Given the description of an element on the screen output the (x, y) to click on. 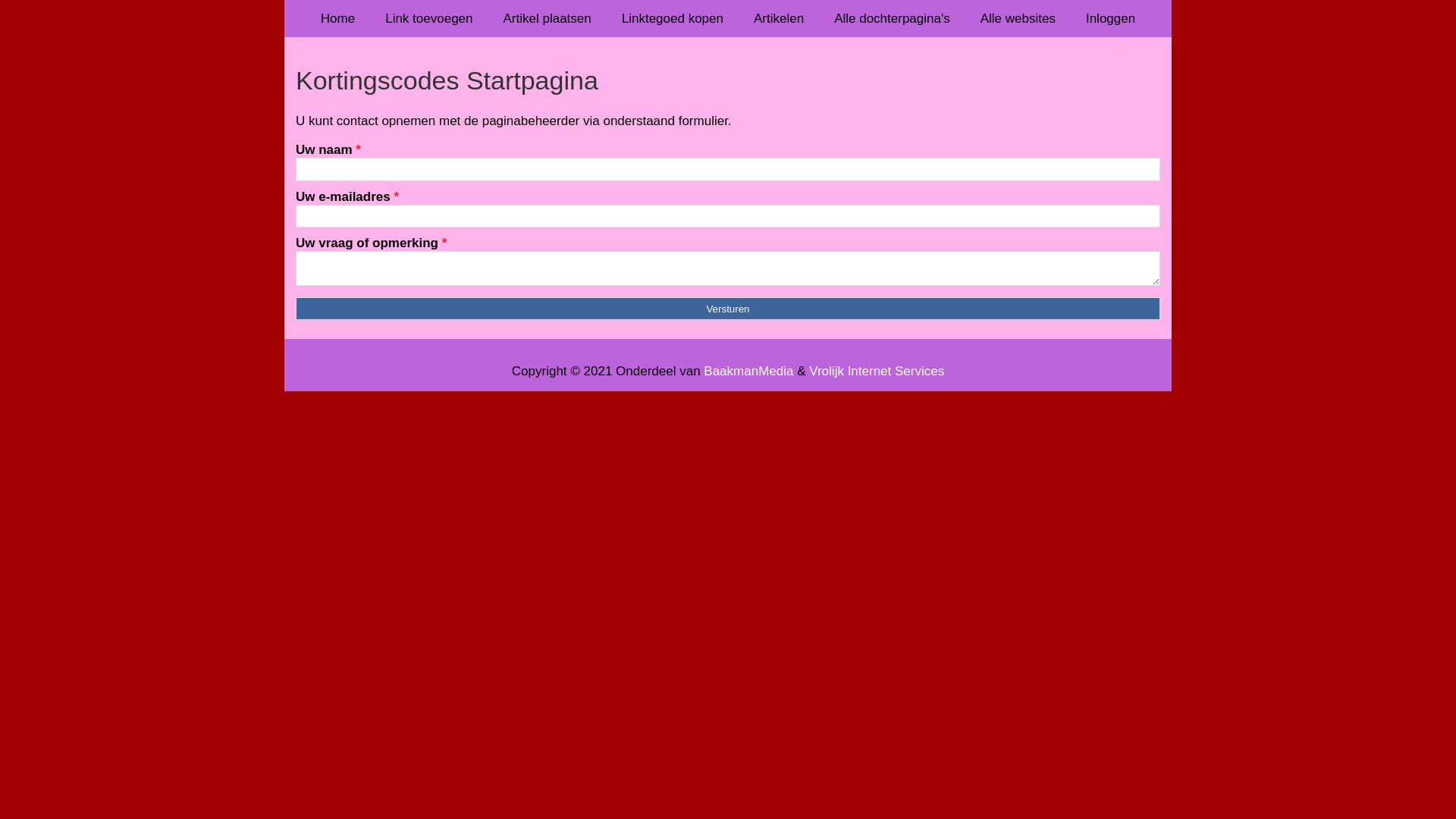
Alle websites Element type: text (1017, 18)
Linktegoed kopen Element type: text (672, 18)
BaakmanMedia Element type: text (748, 371)
Link toevoegen Element type: text (428, 18)
Alle dochterpagina's Element type: text (892, 18)
Kortingscodes Startpagina Element type: text (727, 80)
Vrolijk Internet Services Element type: text (876, 371)
Artikelen Element type: text (778, 18)
Versturen Element type: text (727, 308)
Inloggen Element type: text (1110, 18)
Artikel plaatsen Element type: text (547, 18)
Home Element type: text (337, 18)
